Given the description of an element on the screen output the (x, y) to click on. 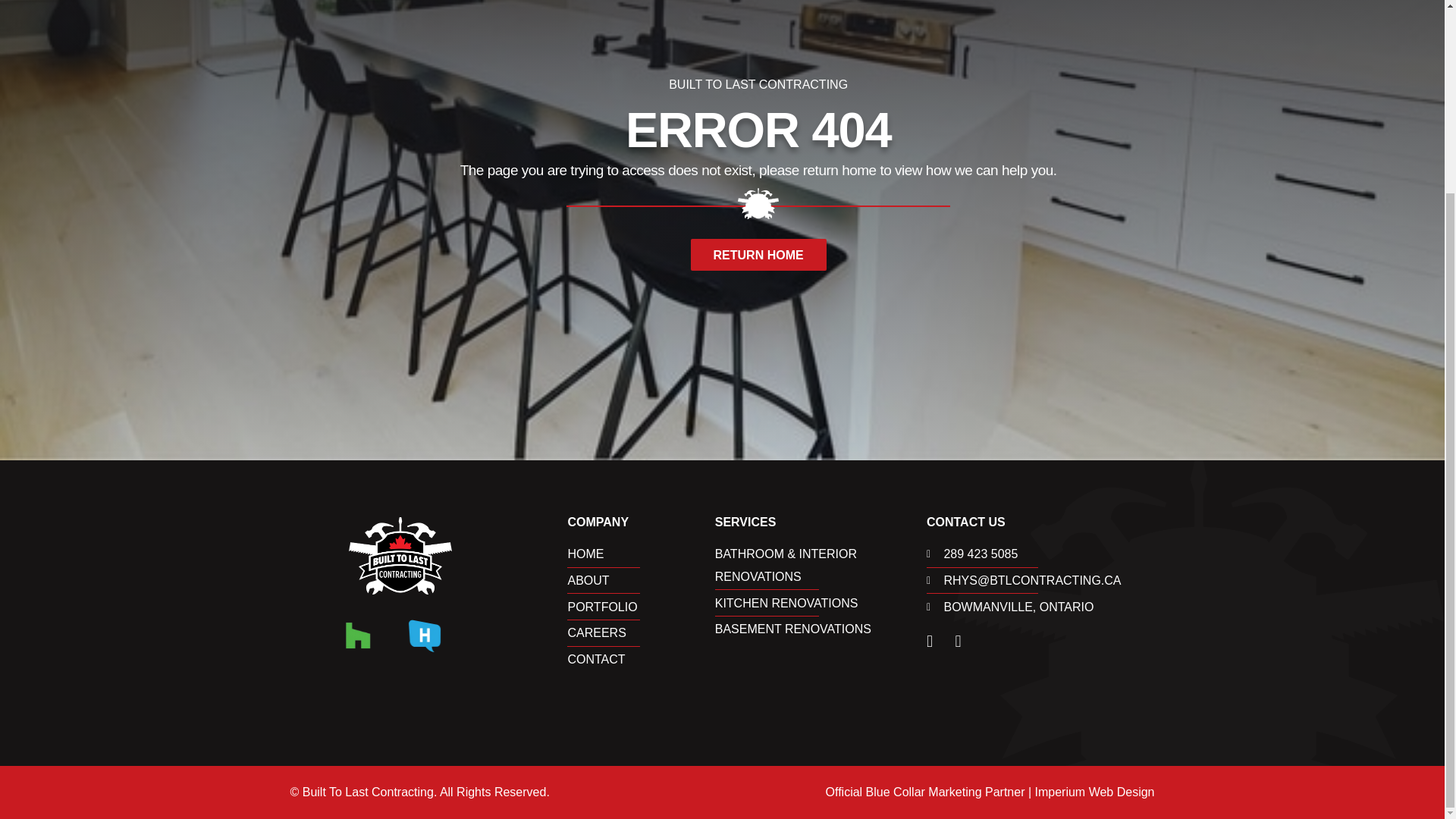
289 423 5085 (1040, 553)
PORTFOLIO (640, 607)
ABOUT (640, 580)
CONTACT (640, 659)
CAREERS (640, 632)
RETURN HOME (758, 255)
BASEMENT RENOVATIONS (820, 629)
BOWMANVILLE, ONTARIO (1040, 607)
KITCHEN RENOVATIONS (820, 603)
HOME (640, 553)
Official Blue Collar Marketing Partner (925, 791)
